Given the description of an element on the screen output the (x, y) to click on. 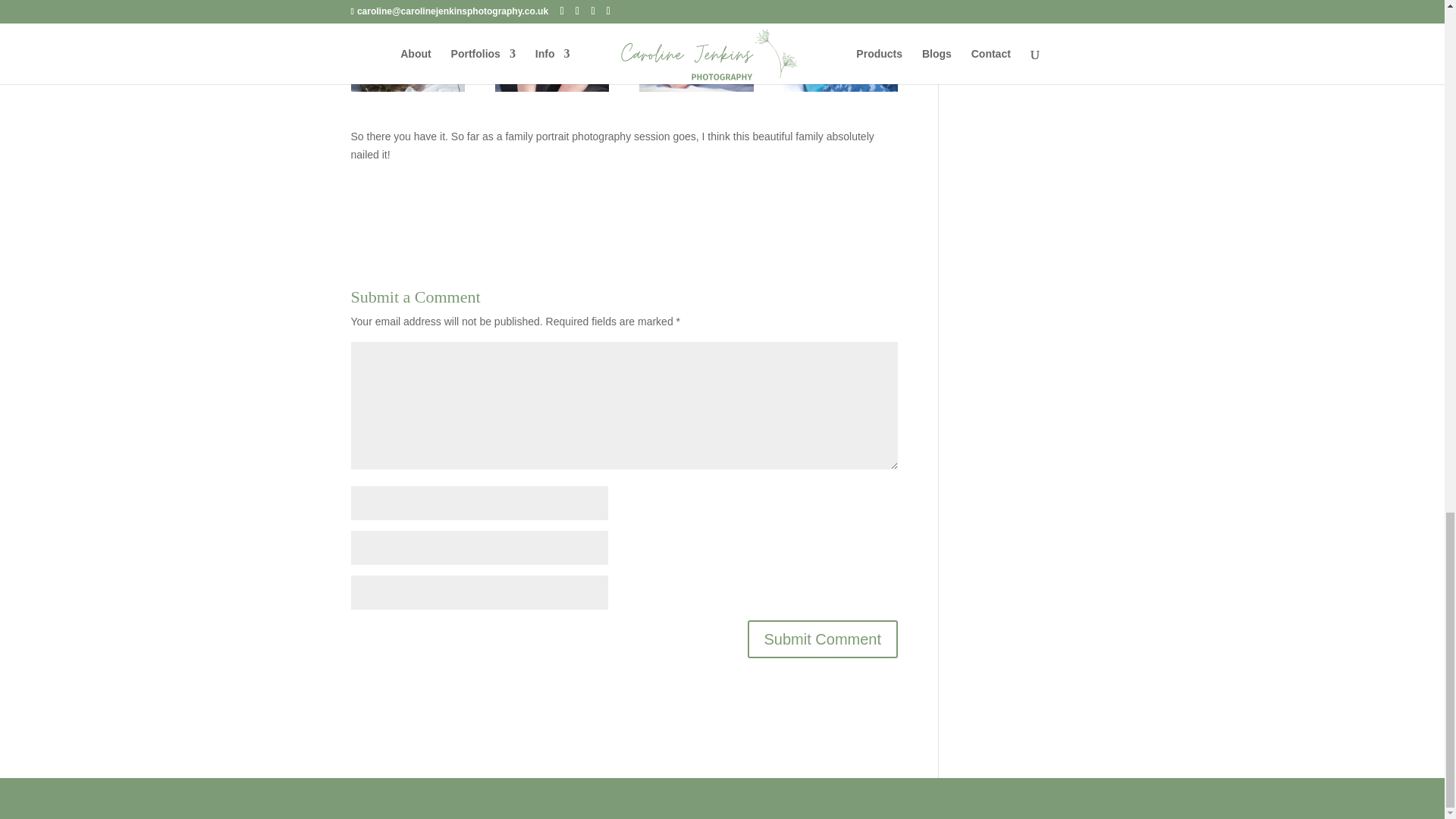
Submit Comment (823, 638)
